Given the description of an element on the screen output the (x, y) to click on. 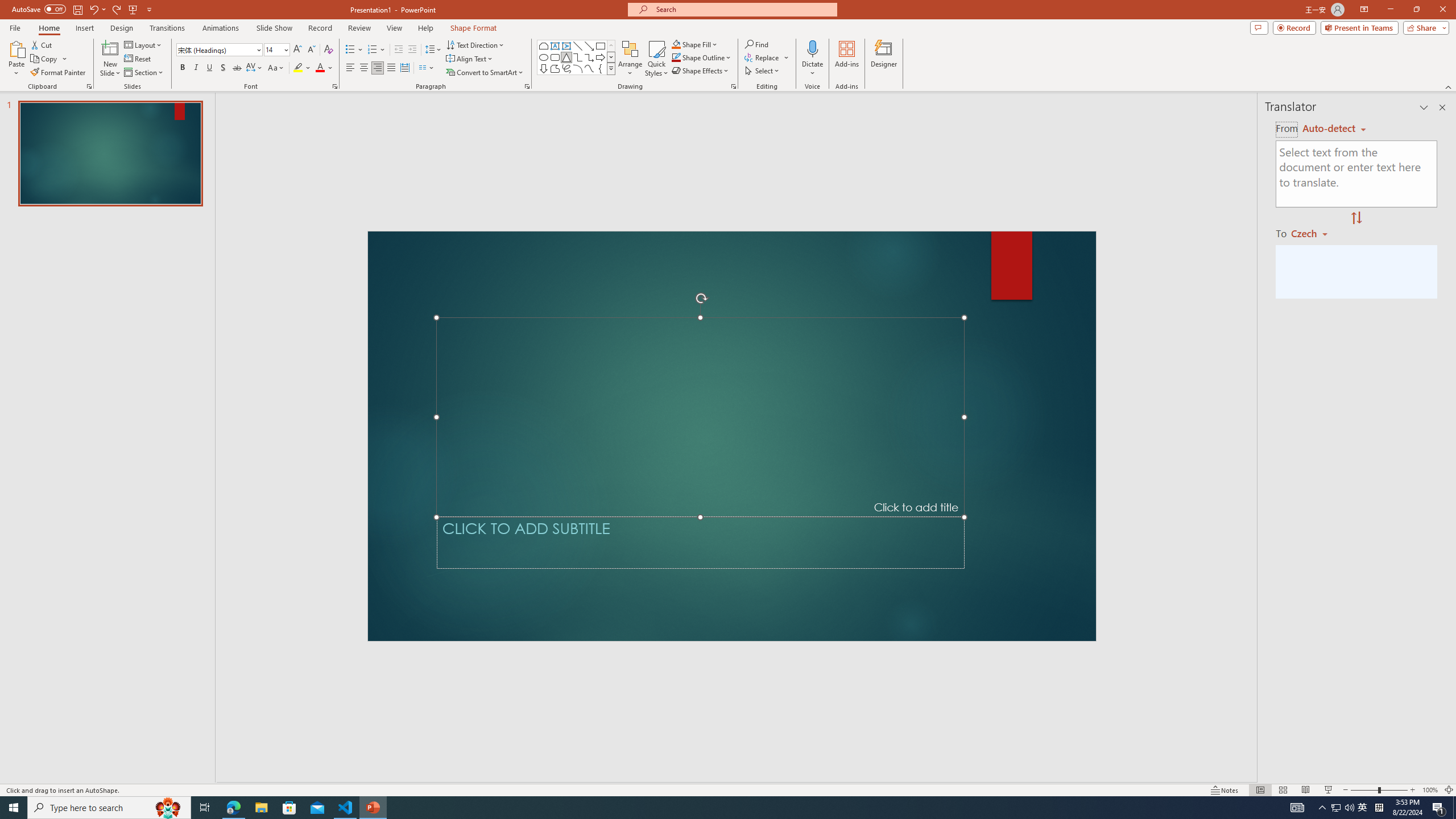
Auto-detect (1334, 128)
